Given the description of an element on the screen output the (x, y) to click on. 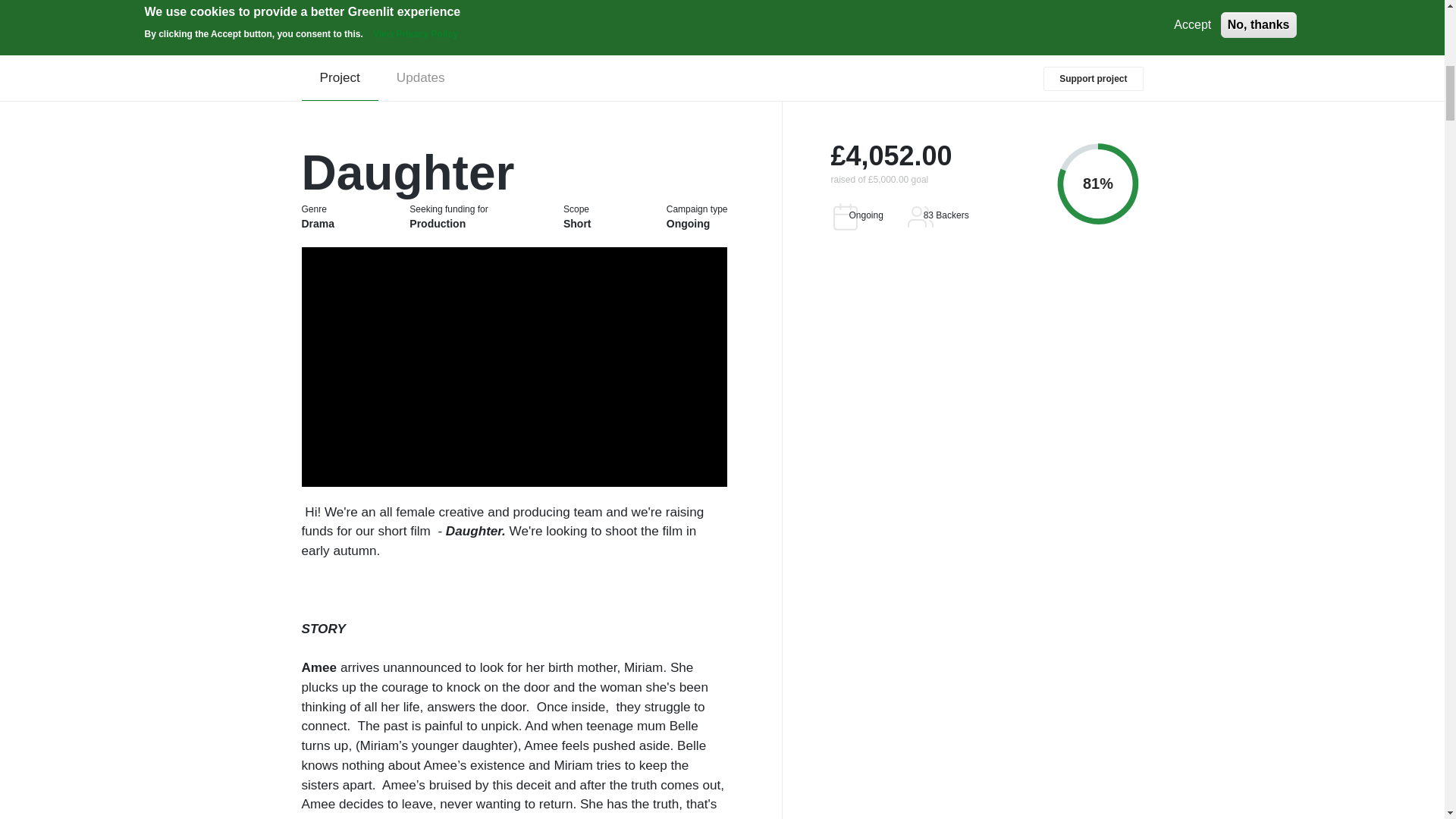
Support project (1092, 78)
Updates (420, 78)
Support project (1092, 78)
Project (339, 78)
